Given the description of an element on the screen output the (x, y) to click on. 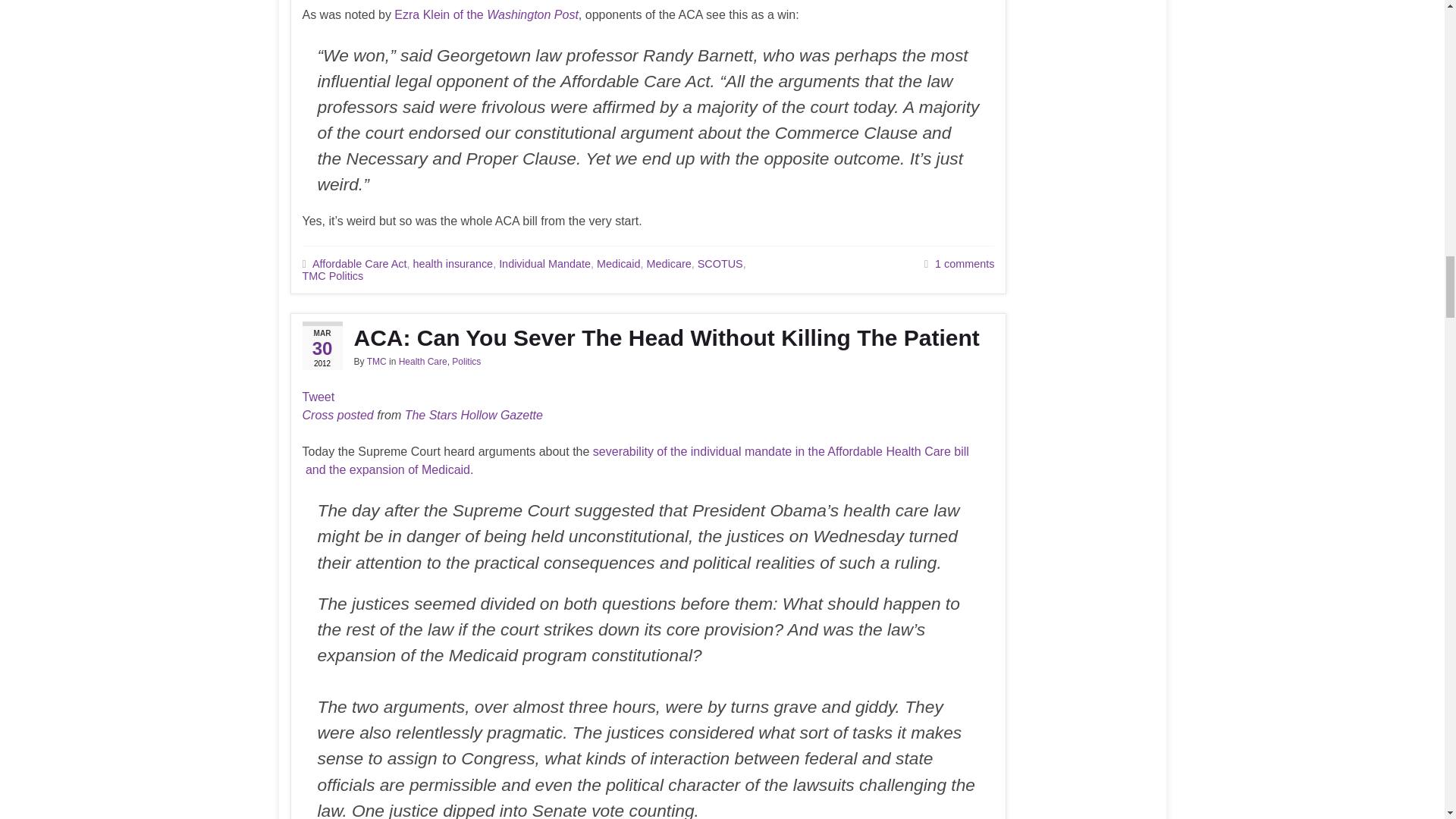
Ezra Klein of the Washington Post (486, 14)
Cross posted (336, 414)
Medicaid (618, 263)
Health Care (422, 361)
Affordable Care Act (360, 263)
SCOTUS (719, 263)
Individual Mandate (545, 263)
Tweet (317, 396)
ACA: Can You Sever The Head Without Killing The Patient (647, 338)
